Given the description of an element on the screen output the (x, y) to click on. 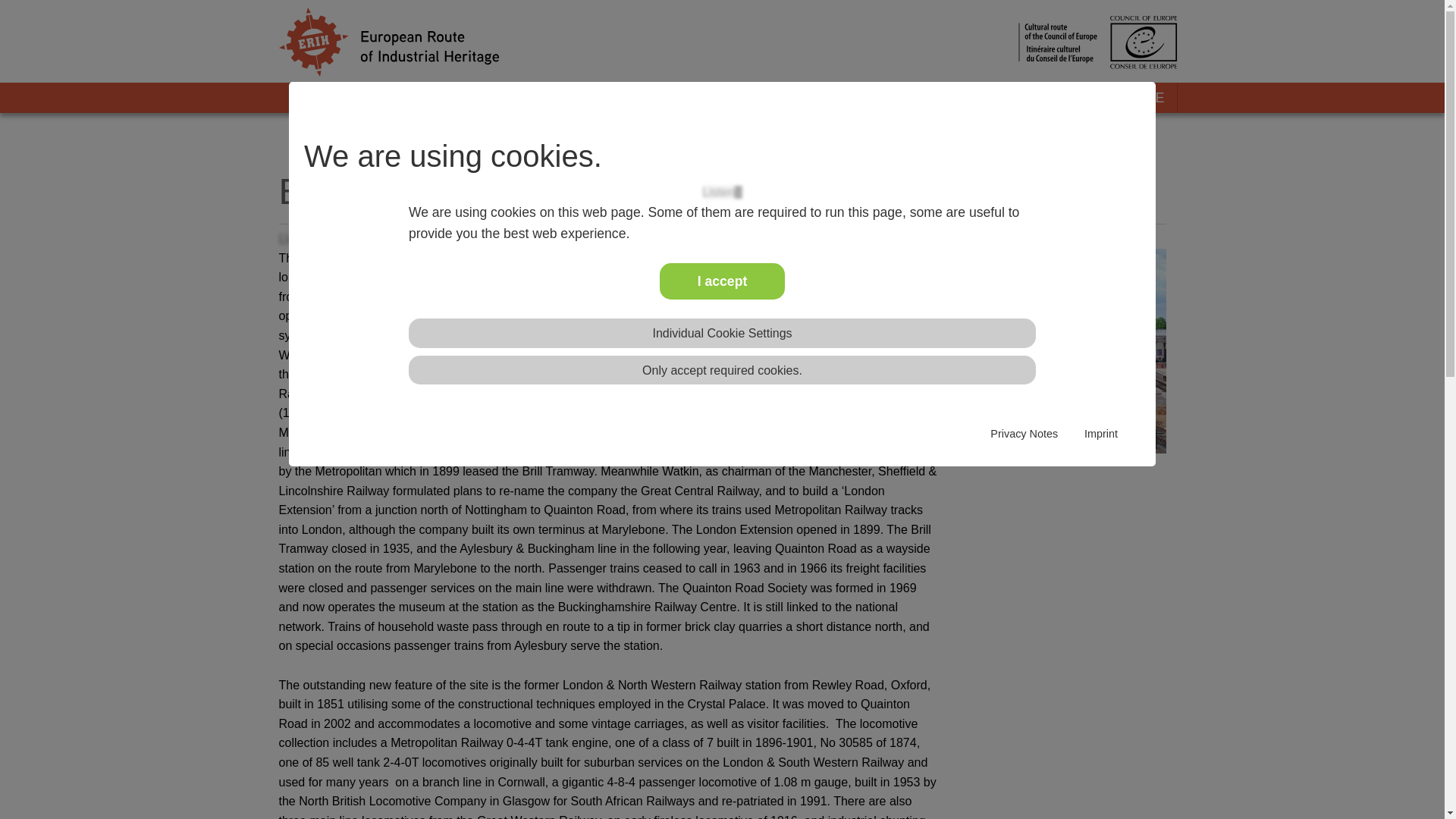
I accept (722, 280)
Only accept required cookies. (722, 369)
Individual Cookie Settings (722, 332)
Please accept Cookies in Order to use this service (721, 192)
Privacy Notes (1024, 434)
Listen (721, 192)
Imprint (1101, 434)
